Given the description of an element on the screen output the (x, y) to click on. 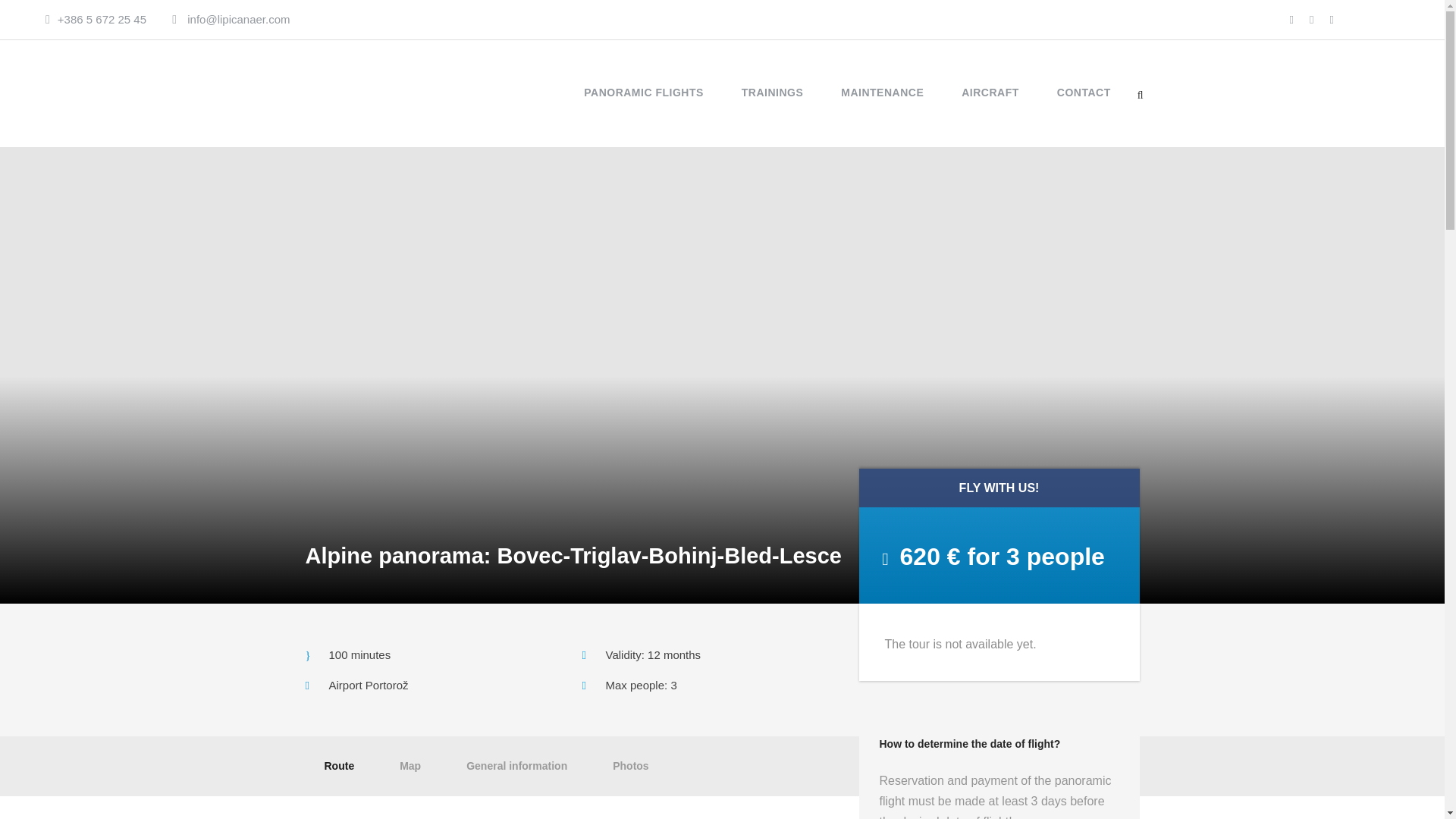
TRAININGS (772, 105)
CONTACT (1083, 105)
PANORAMIC FLIGHTS (643, 105)
lipicanaer-logo (357, 93)
AIRCRAFT (989, 105)
MAINTENANCE (882, 105)
